Given the description of an element on the screen output the (x, y) to click on. 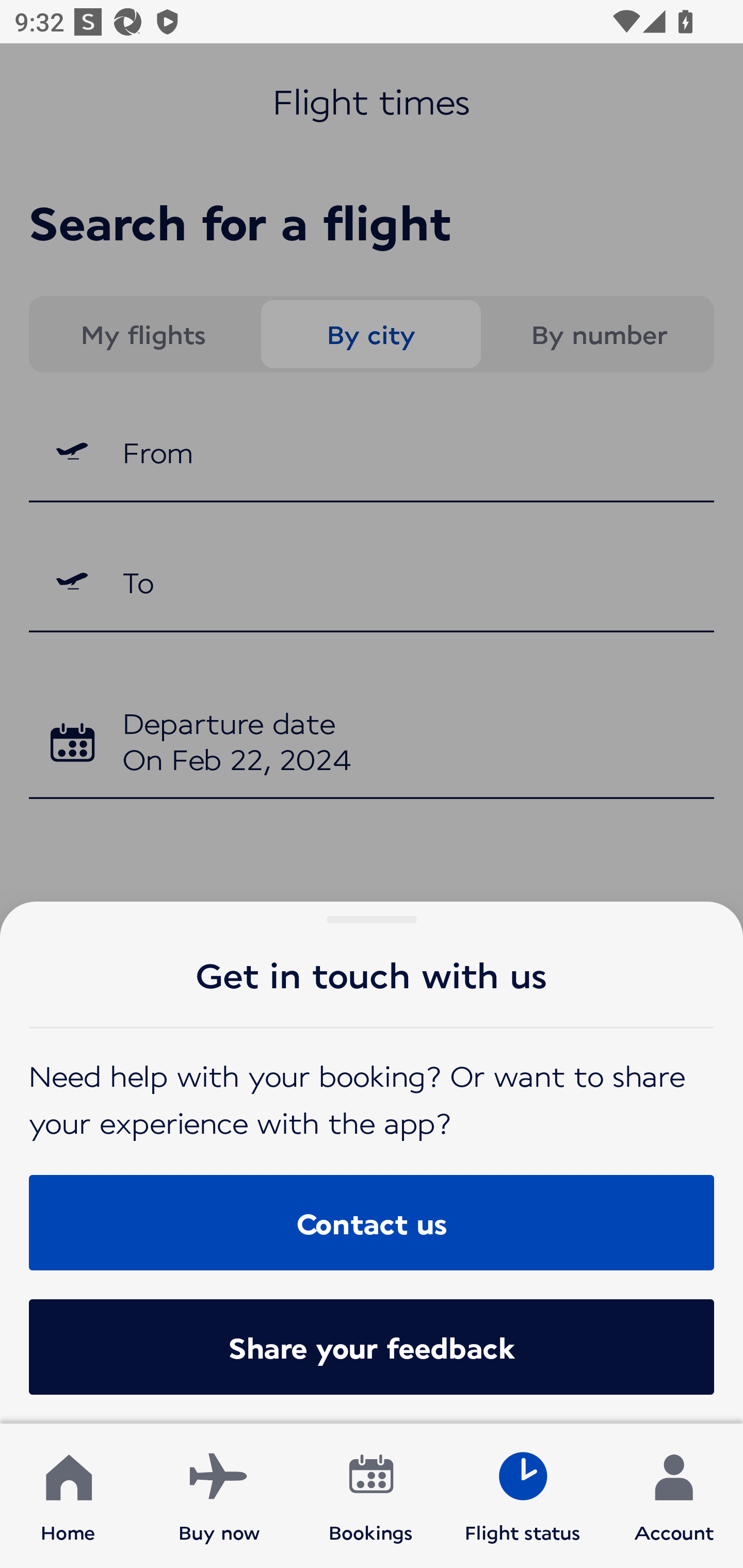
Contact us (371, 1222)
Share your feedback (371, 1346)
Home (68, 1495)
Buy now (219, 1495)
Bookings (370, 1495)
Account (674, 1495)
